Given the description of an element on the screen output the (x, y) to click on. 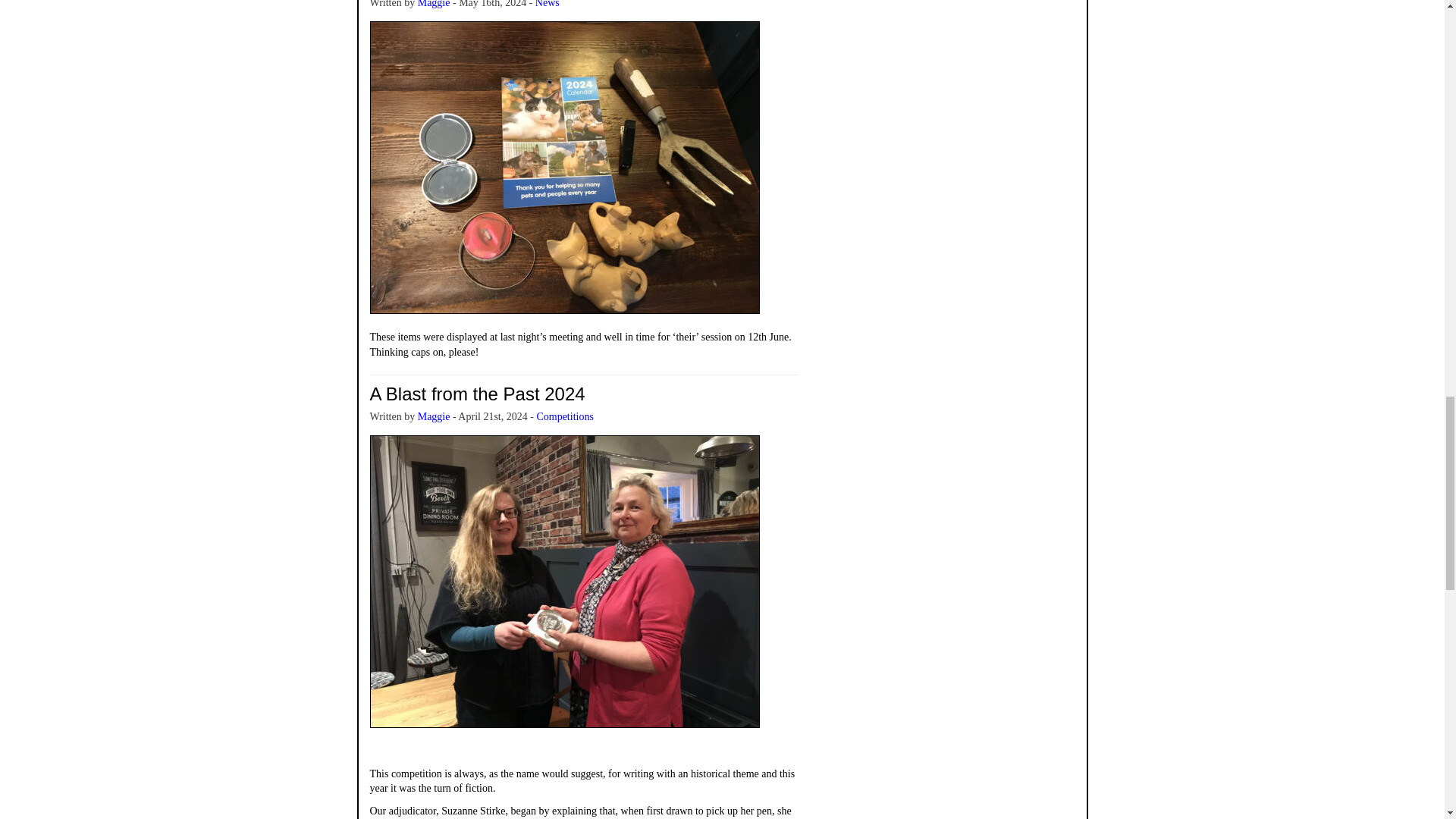
Permanent Link to A Blast from the Past 2024 (477, 394)
News (547, 4)
Posts by Maggie (433, 416)
Competitions (563, 416)
Maggie (433, 416)
A Blast from the Past 2024 (477, 394)
Posts by Maggie (433, 4)
Maggie (433, 4)
